Given the description of an element on the screen output the (x, y) to click on. 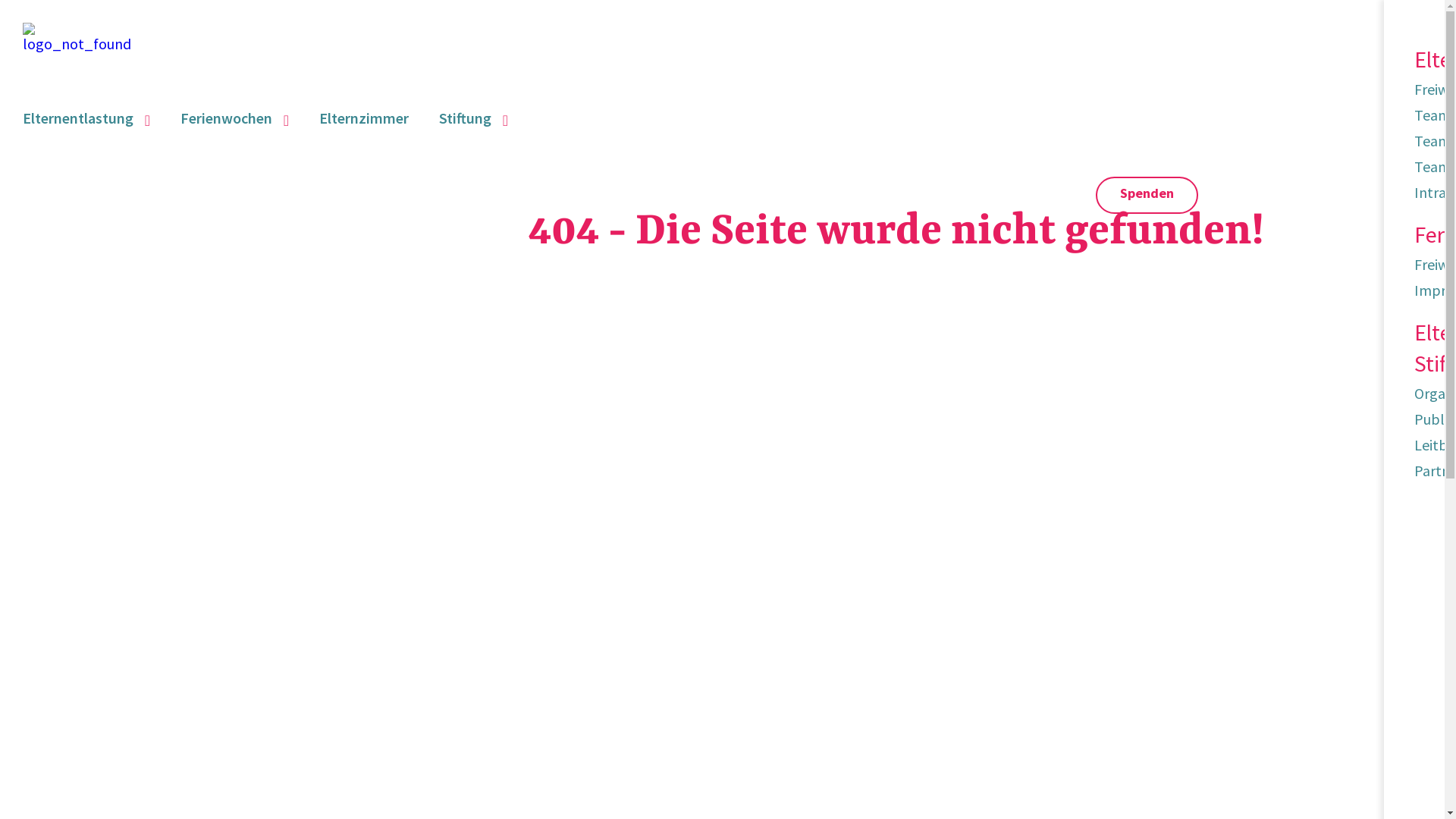
Ferienwochen Element type: text (234, 118)
Elternentlastung Element type: text (86, 118)
Elternzimmer Element type: text (363, 118)
Stiftung Element type: text (473, 118)
Spenden Element type: text (1146, 194)
